Given the description of an element on the screen output the (x, y) to click on. 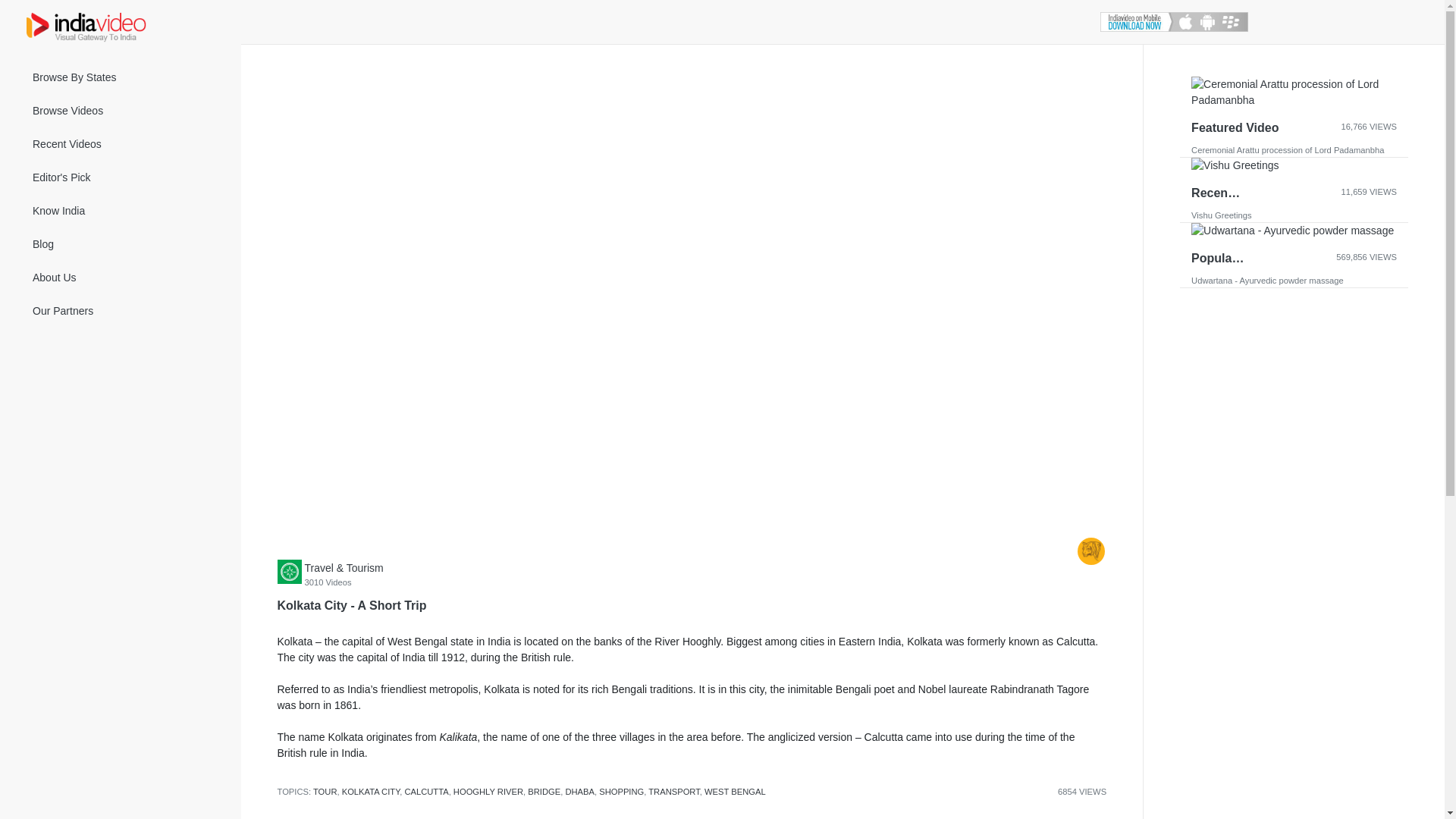
About Us (120, 277)
Know India (120, 211)
Editor's Pick (120, 177)
Browse Videos (120, 110)
Browse By States (120, 77)
Blog (120, 244)
Recent Videos (120, 144)
